Given the description of an element on the screen output the (x, y) to click on. 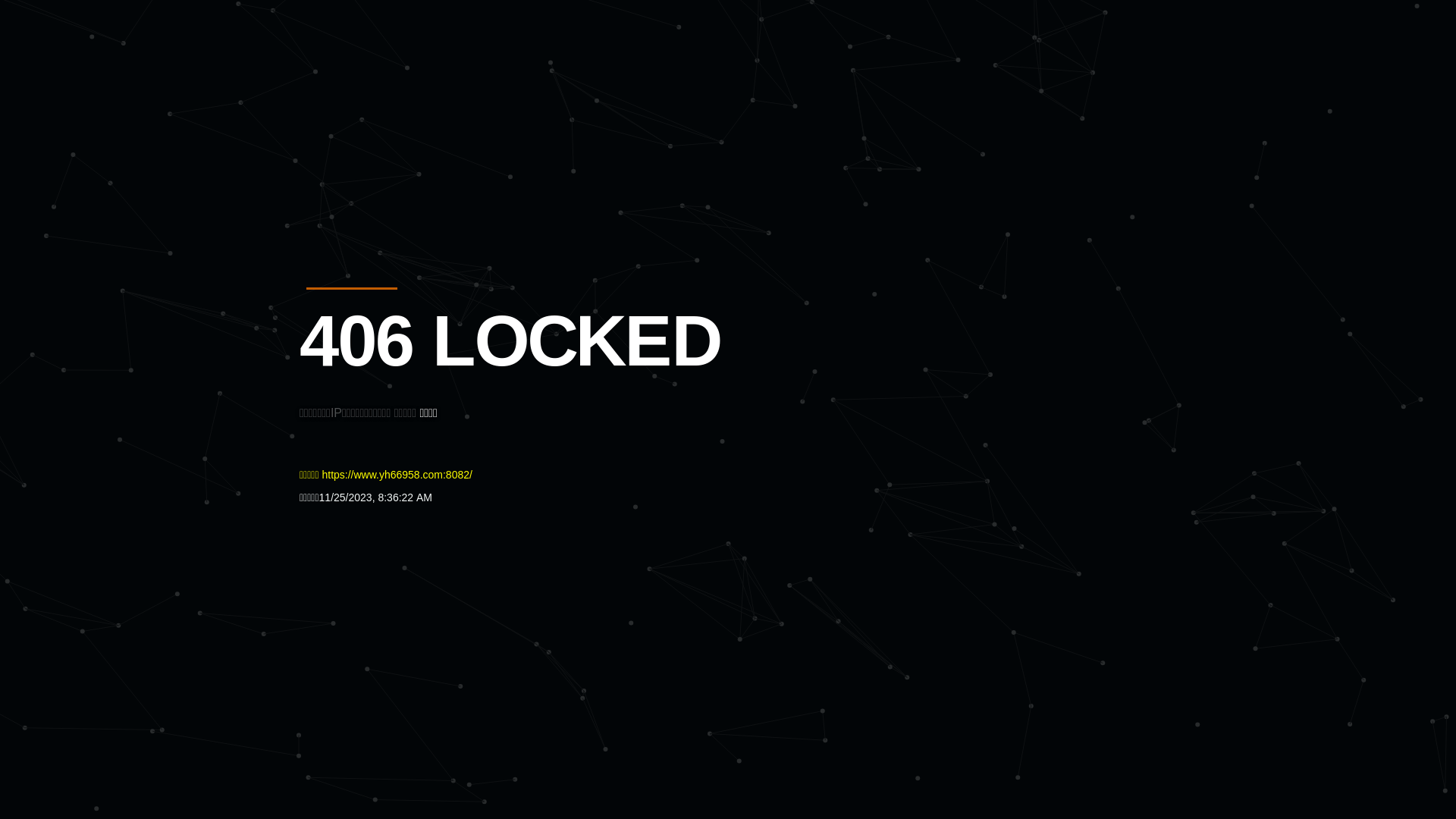
Quatro Element type: text (410, 86)
